Given the description of an element on the screen output the (x, y) to click on. 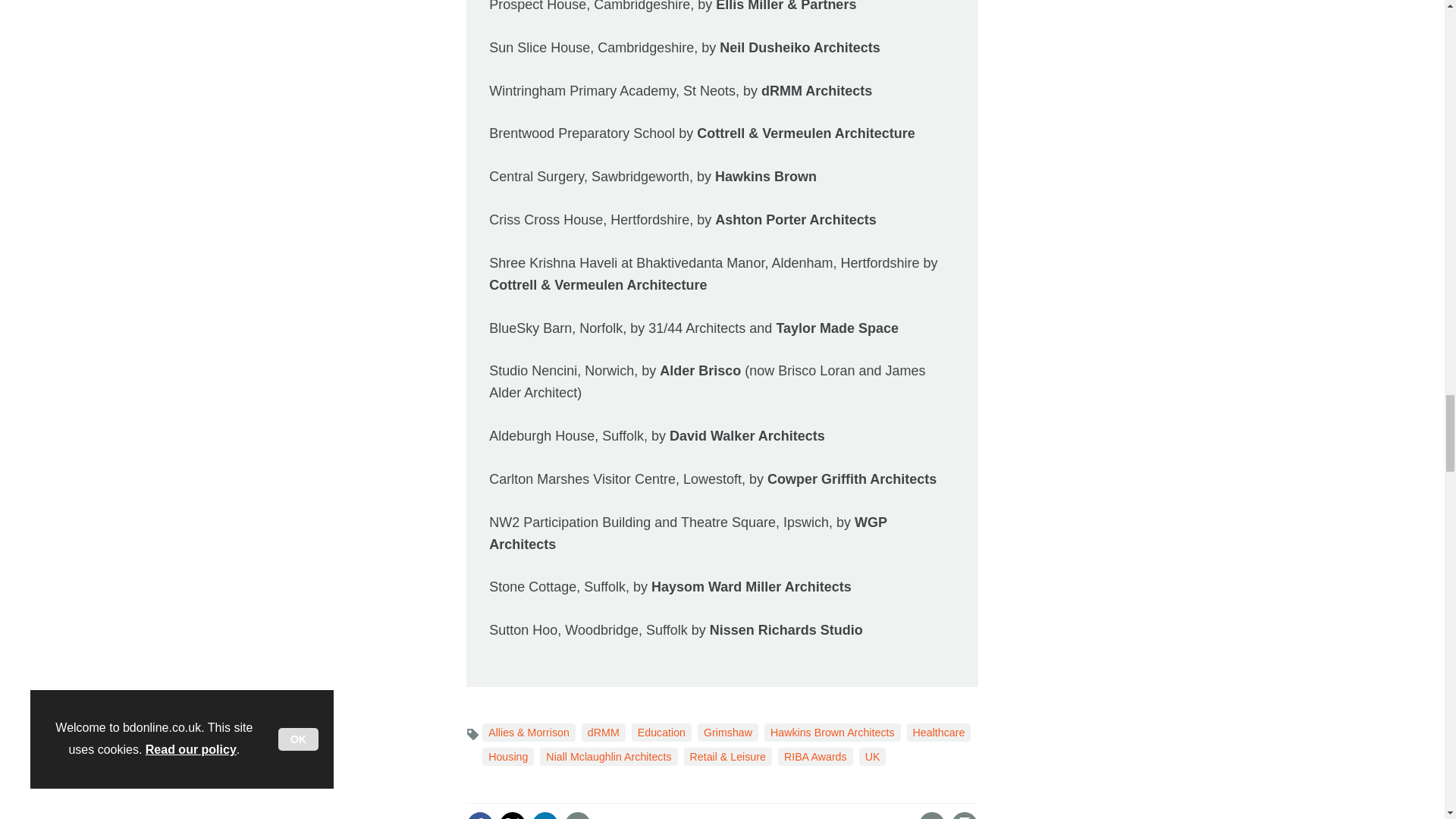
Share this on Twitter (512, 815)
Share this on Facebook (479, 815)
Email this article (577, 815)
Share this on Linked in (545, 815)
